Given the description of an element on the screen output the (x, y) to click on. 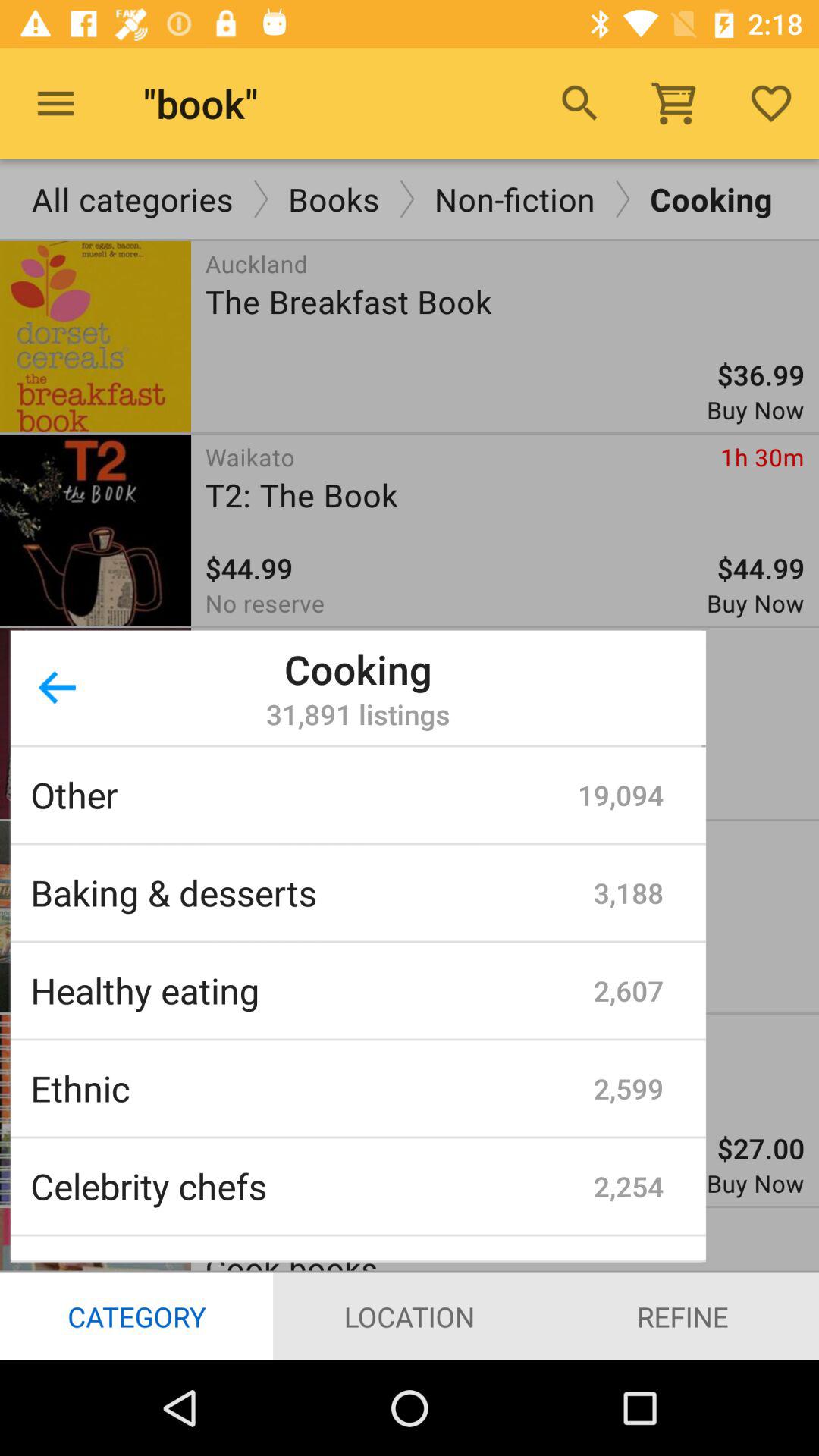
jump to 3,188 icon (628, 892)
